Given the description of an element on the screen output the (x, y) to click on. 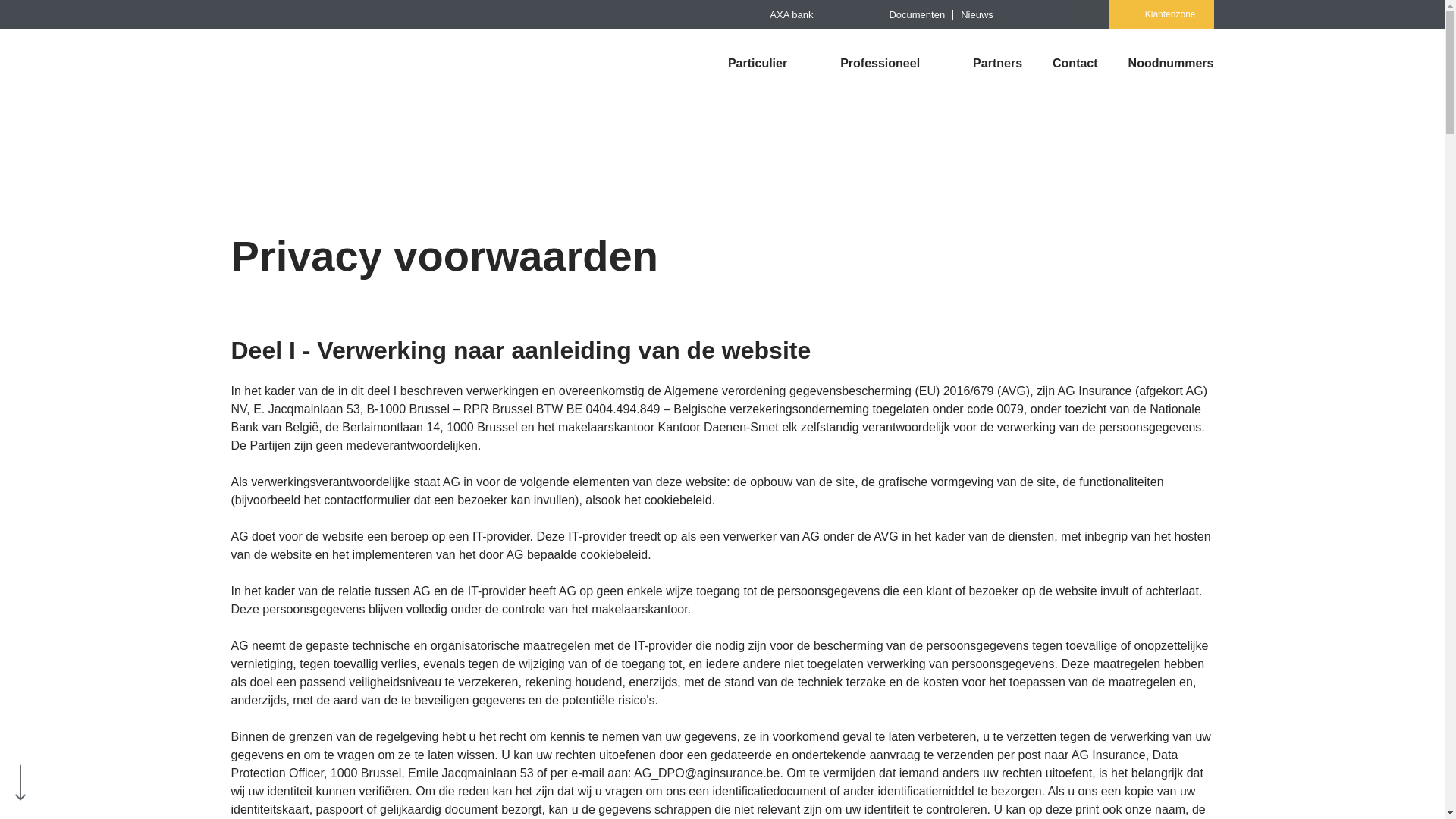
AXA bank Element type: text (791, 13)
Professioneel Element type: text (874, 63)
Partners Element type: text (997, 63)
Documenten Element type: text (916, 13)
Klantenzone Element type: text (1161, 14)
Contact Element type: text (1075, 63)
Zoeken Element type: text (40, 18)
Noodnummers Element type: text (1163, 63)
Nieuws Element type: text (976, 13)
Particulier Element type: text (751, 63)
